Given the description of an element on the screen output the (x, y) to click on. 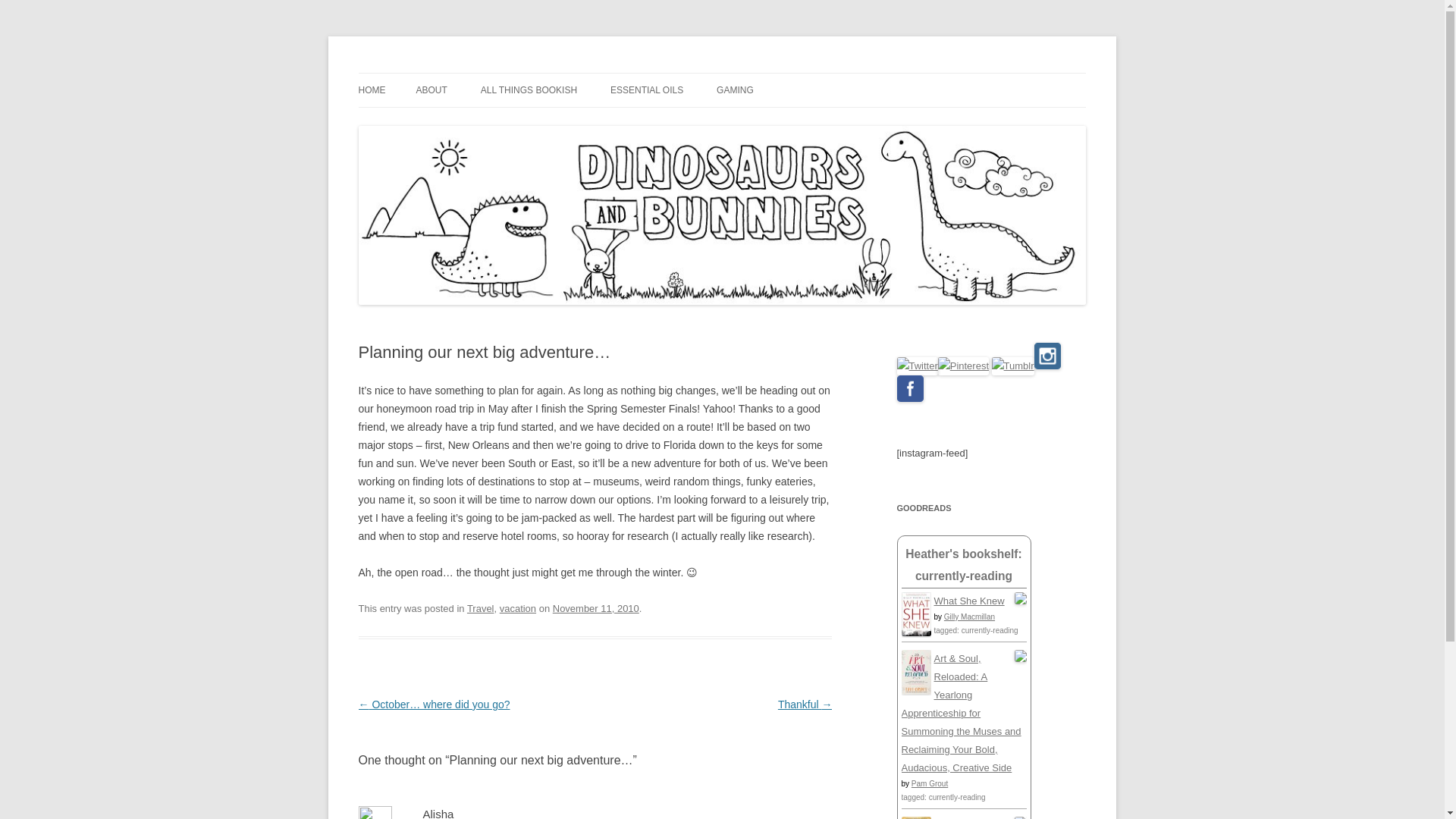
Twitter (916, 366)
Gilly Macmillan (968, 616)
Dino and Bunnies (441, 72)
Facebook (909, 388)
Travel (481, 608)
Pinterest (962, 366)
Tumblr (1012, 366)
What She Knew (969, 600)
11:22 am (596, 608)
